Given the description of an element on the screen output the (x, y) to click on. 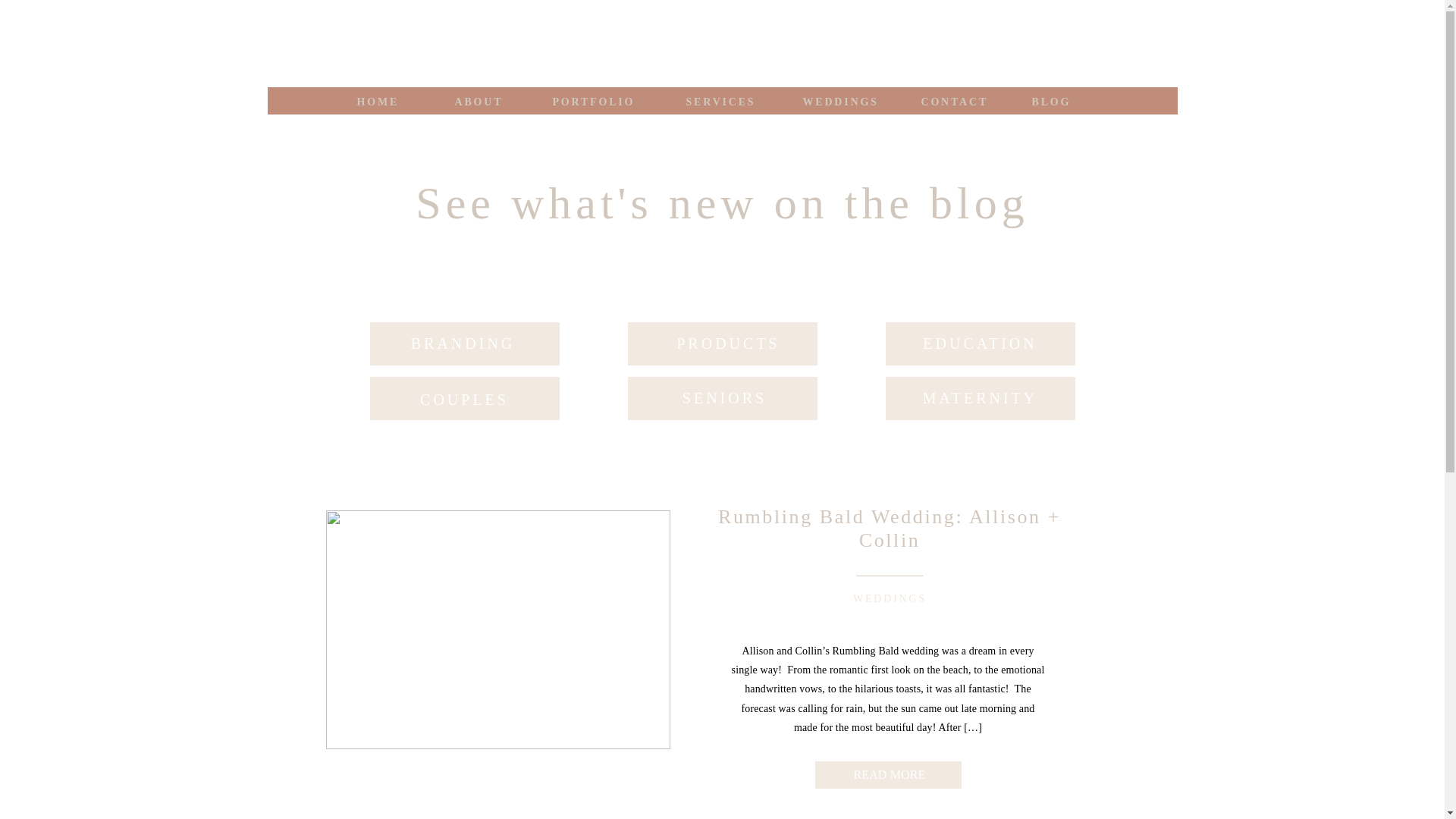
WEDDINGS (889, 598)
BLOG (1050, 100)
SENIORS (724, 402)
SERVICES (721, 100)
READ MORE (888, 772)
COUPLES (463, 401)
EDUCATION (979, 347)
PRODUCTS (727, 347)
CONTACT (953, 100)
ABOUT (479, 100)
